Given the description of an element on the screen output the (x, y) to click on. 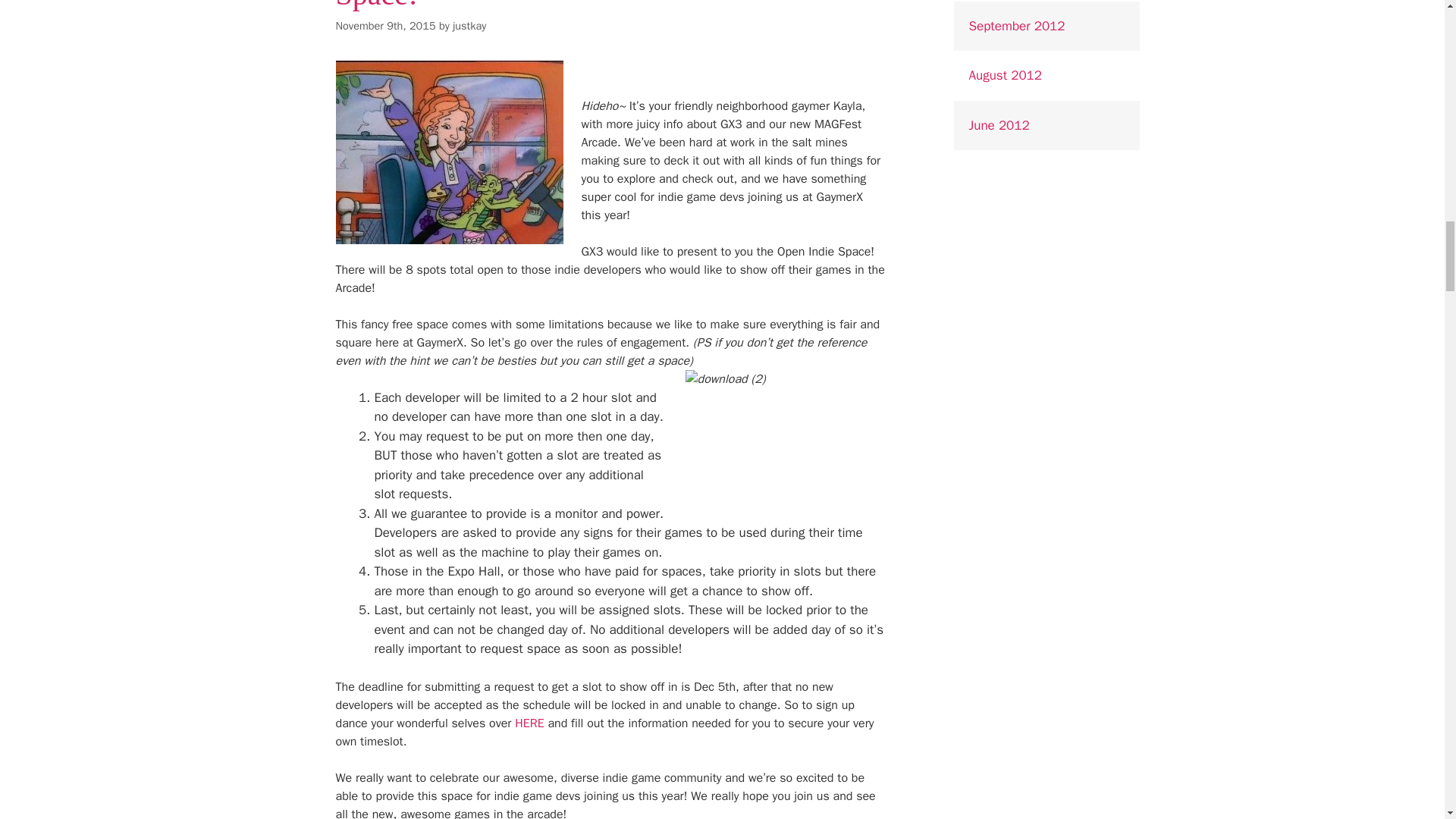
justkay (469, 25)
View all posts by justkay (469, 25)
MAGfest Arcade Presents the Open Indie Space! (587, 5)
